Given the description of an element on the screen output the (x, y) to click on. 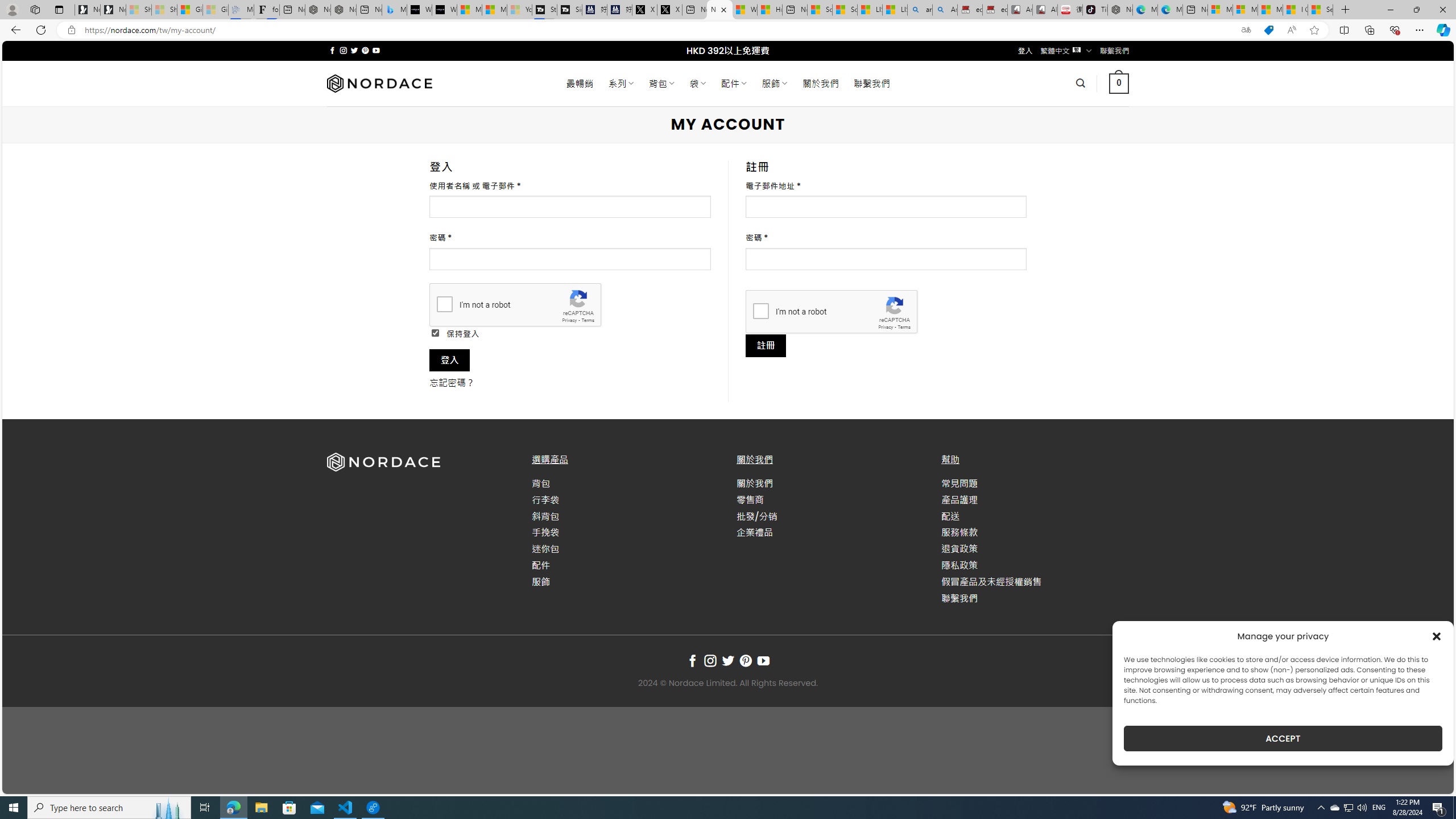
Collections (1369, 29)
Wildlife - MSN (744, 9)
Copilot (Ctrl+Shift+.) (1442, 29)
Follow on Instagram (710, 660)
Minimize (1390, 9)
I Gained 20 Pounds of Muscle in 30 Days! | Watch (1295, 9)
What's the best AI voice generator? - voice.ai (443, 9)
Split screen (1344, 29)
Nordace (379, 83)
